Given the description of an element on the screen output the (x, y) to click on. 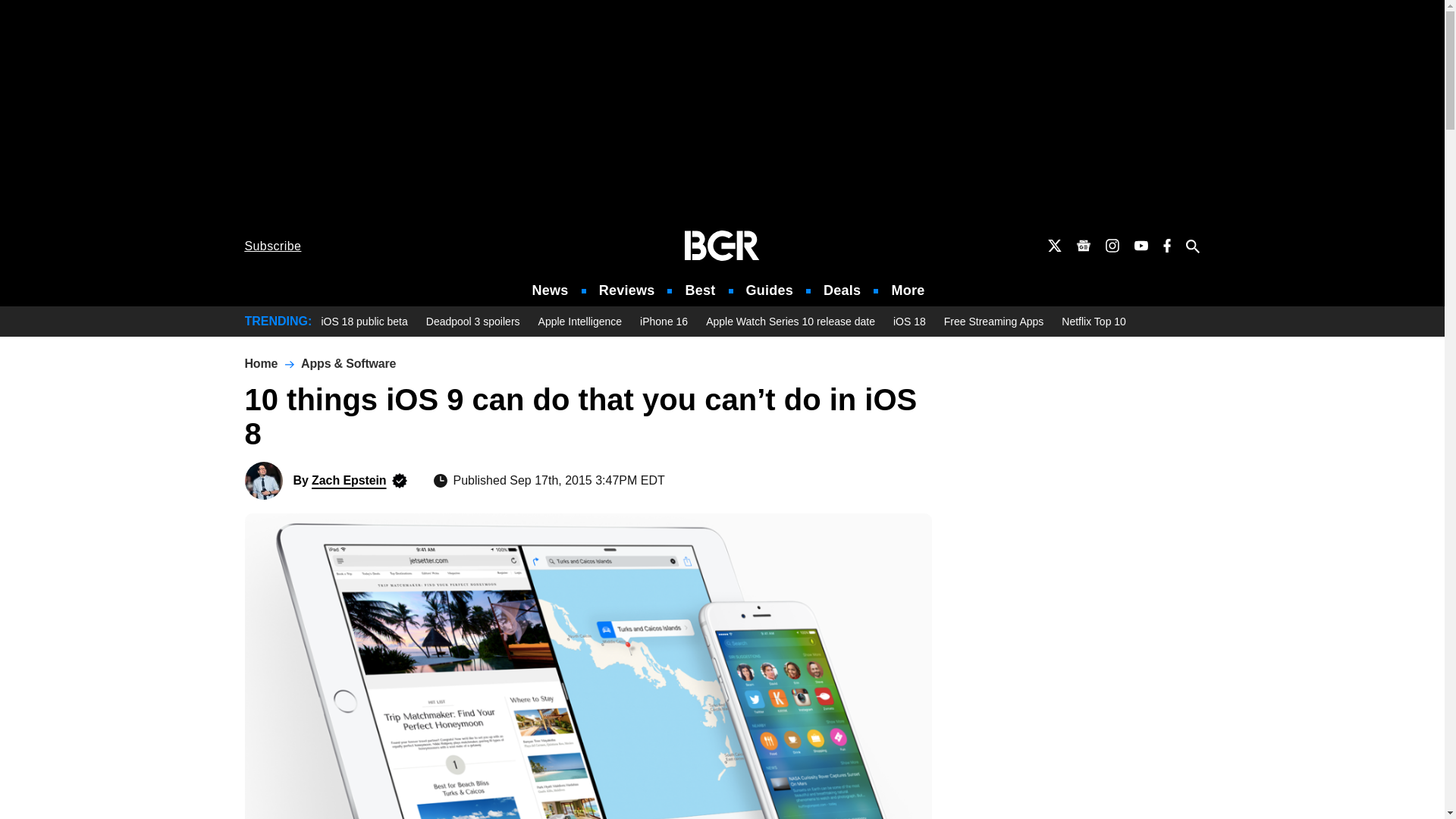
Subscribe (272, 245)
Posts by Zach Epstein (348, 480)
Zach Epstein (263, 480)
News (550, 290)
Reviews (626, 290)
More (907, 290)
Deals (842, 290)
Best (699, 290)
Guides (769, 290)
